Given the description of an element on the screen output the (x, y) to click on. 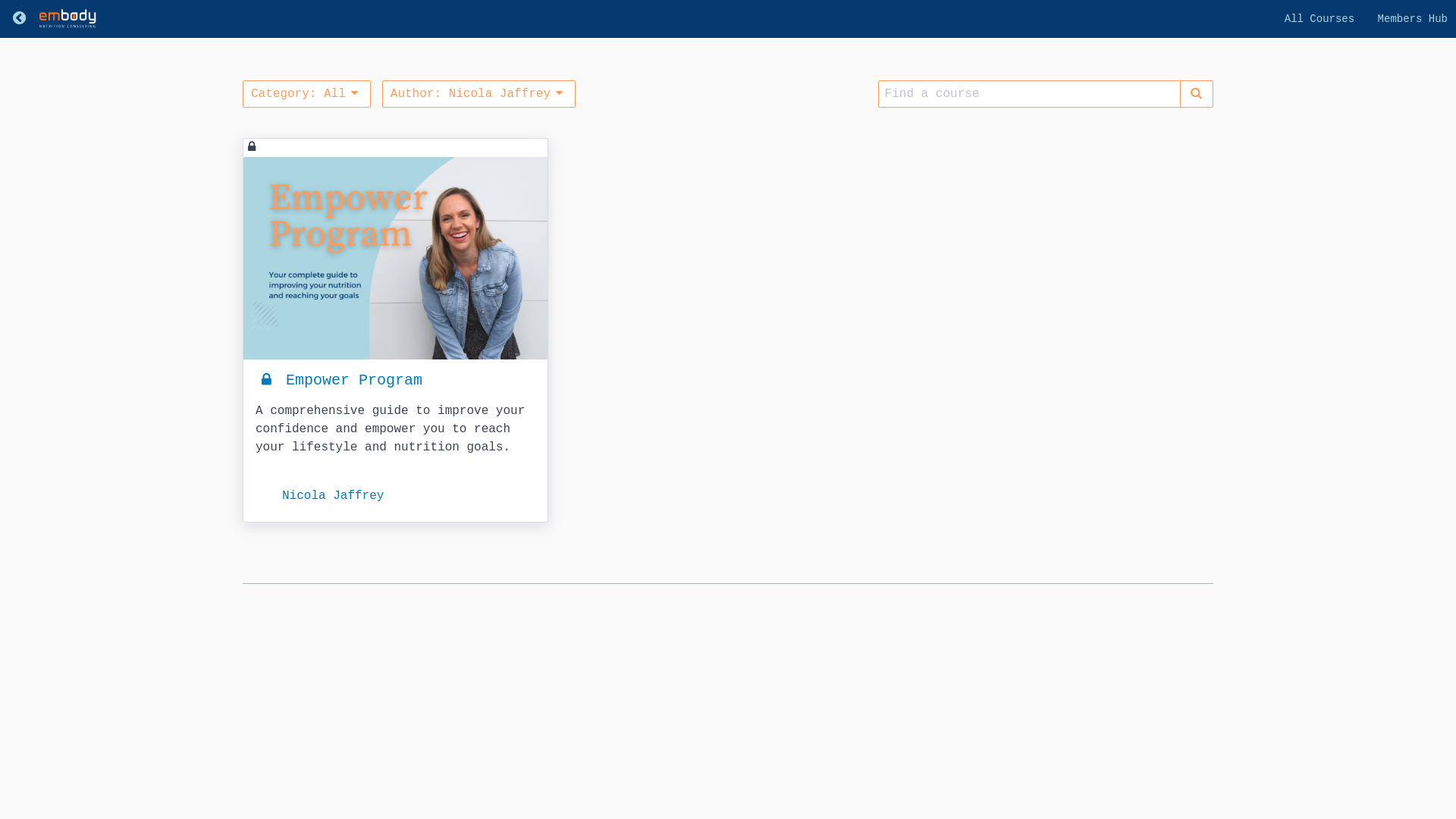
Category: All Element type: text (306, 93)
Return home Element type: text (18, 18)
Nicola Jaffrey Element type: text (319, 497)
Author: Nicola Jaffrey Element type: text (479, 93)
All Courses Element type: text (1319, 18)
Empower Program Element type: text (338, 380)
